Given the description of an element on the screen output the (x, y) to click on. 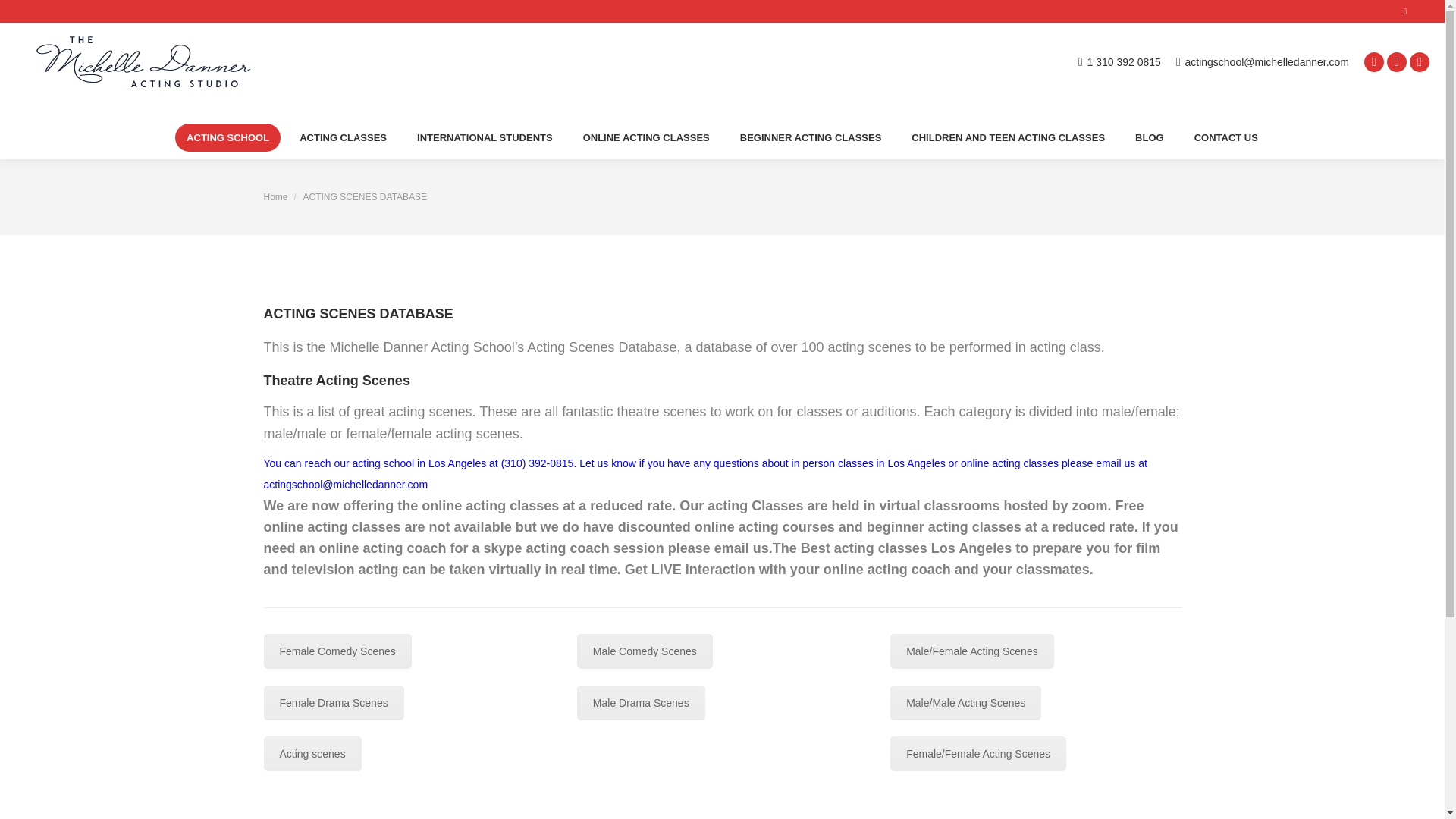
ACTING CLASSES (342, 137)
Instagram page opens in new window (1419, 61)
X page opens in new window (1396, 61)
X page opens in new window (1396, 61)
ACTING SCHOOL (227, 137)
1 310 392 0815 (1119, 60)
Facebook page opens in new window (1374, 61)
INTERNATIONAL STUDENTS (485, 137)
Home (275, 196)
Facebook page opens in new window (1374, 61)
